Given the description of an element on the screen output the (x, y) to click on. 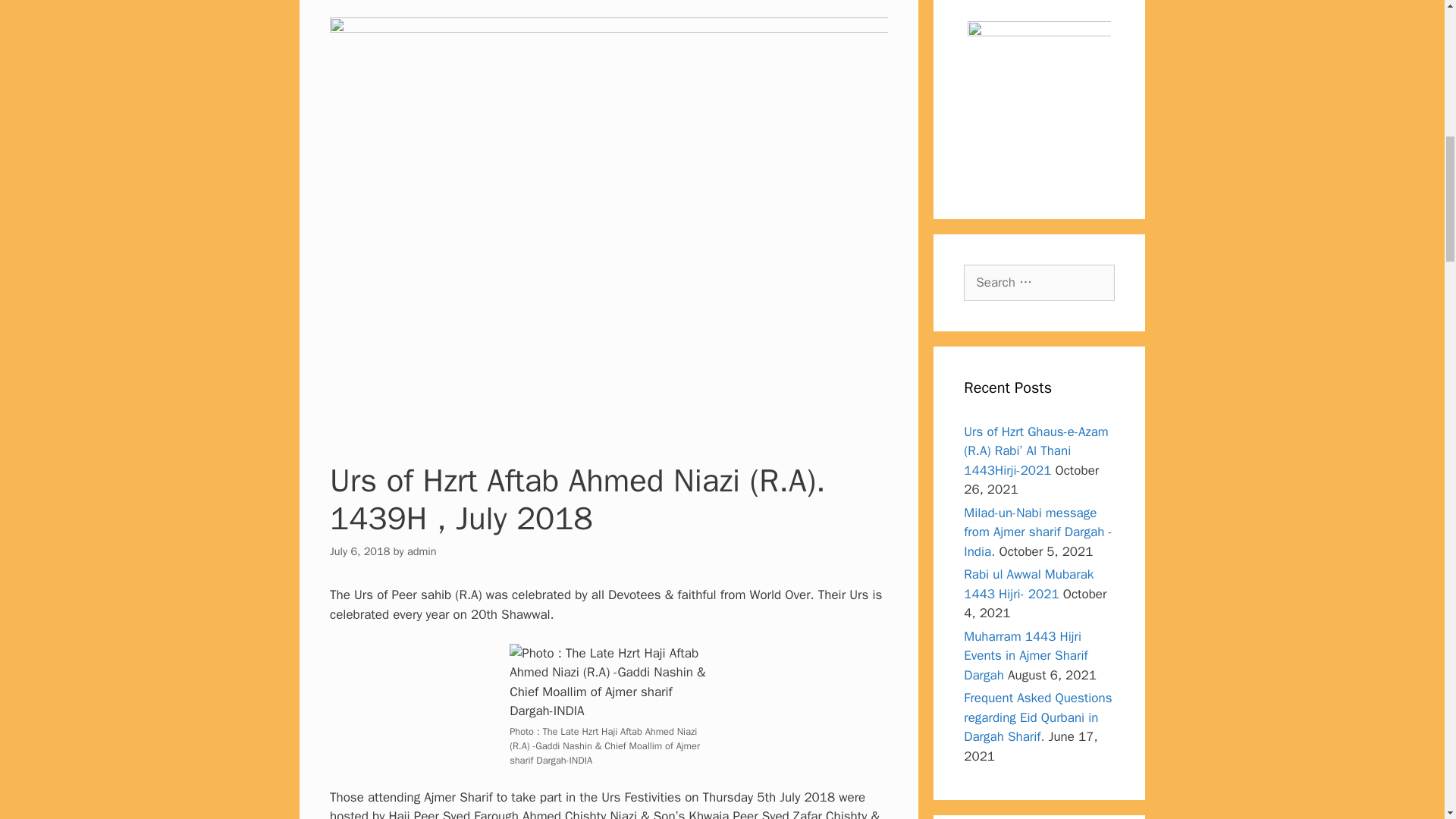
Milad-un-Nabi message from Ajmer sharif Dargah -India. (1037, 532)
Search for: (1039, 282)
Rabi ul Awwal Mubarak 1443 Hijri- 2021 (1028, 583)
View all posts by admin (421, 550)
Muharram 1443 Hijri Events in Ajmer Sharif Dargah (1025, 655)
admin (421, 550)
